Given the description of an element on the screen output the (x, y) to click on. 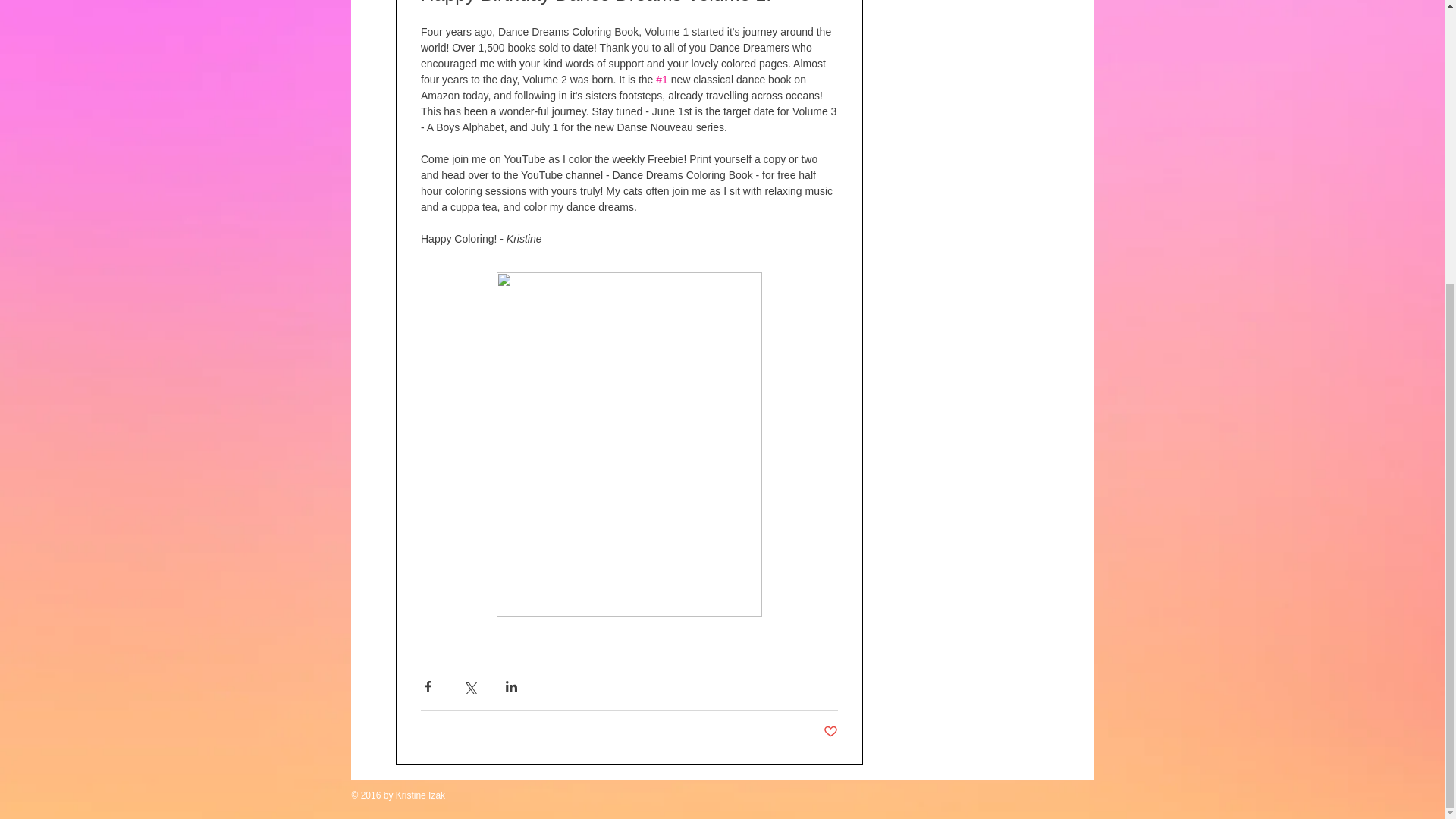
Post not marked as liked (831, 731)
